Given the description of an element on the screen output the (x, y) to click on. 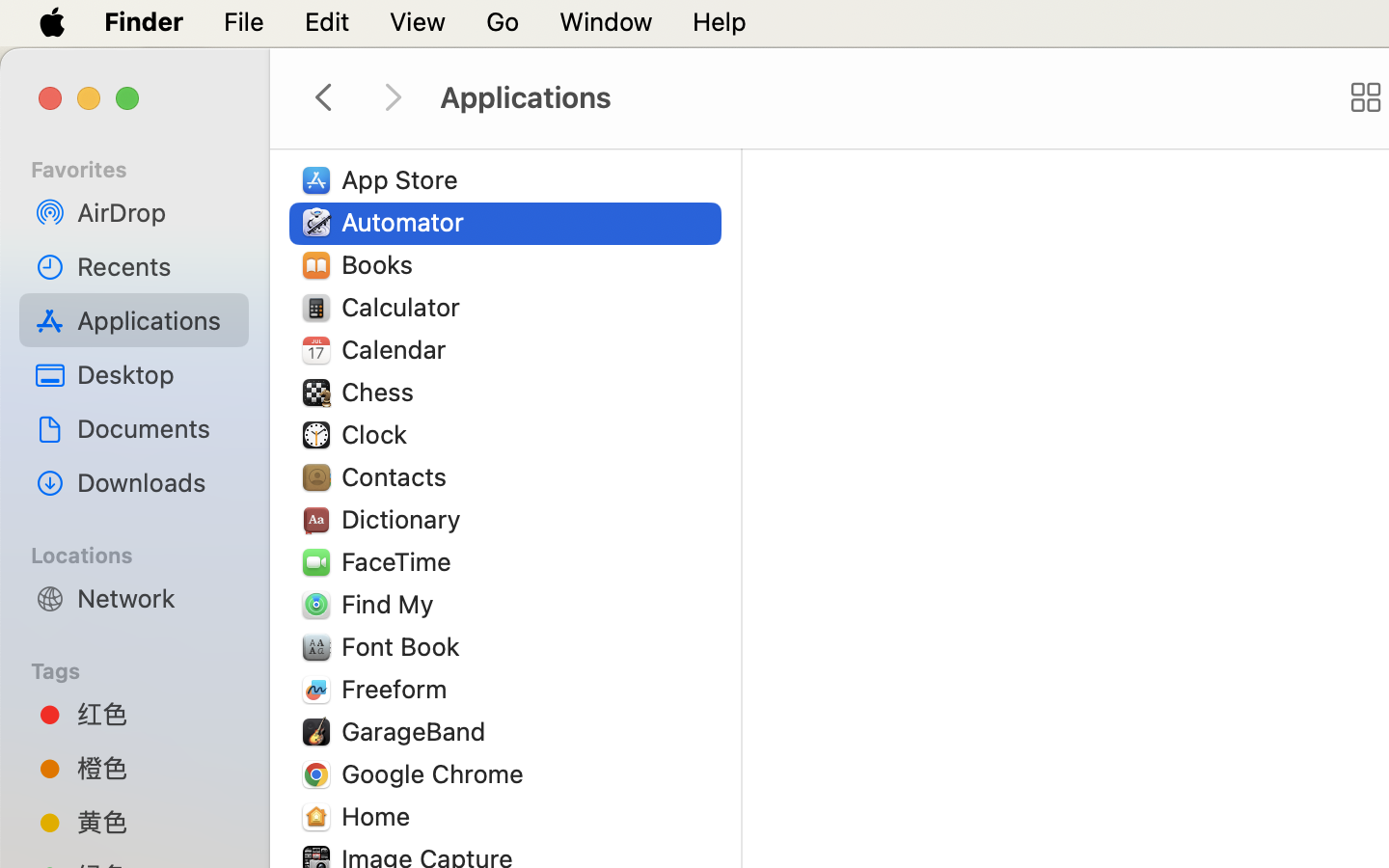
Favorites Element type: AXStaticText (145, 166)
Google Chrome Element type: AXTextField (436, 773)
Home Element type: AXTextField (379, 815)
Desktop Element type: AXStaticText (155, 373)
Locations Element type: AXStaticText (145, 552)
